Given the description of an element on the screen output the (x, y) to click on. 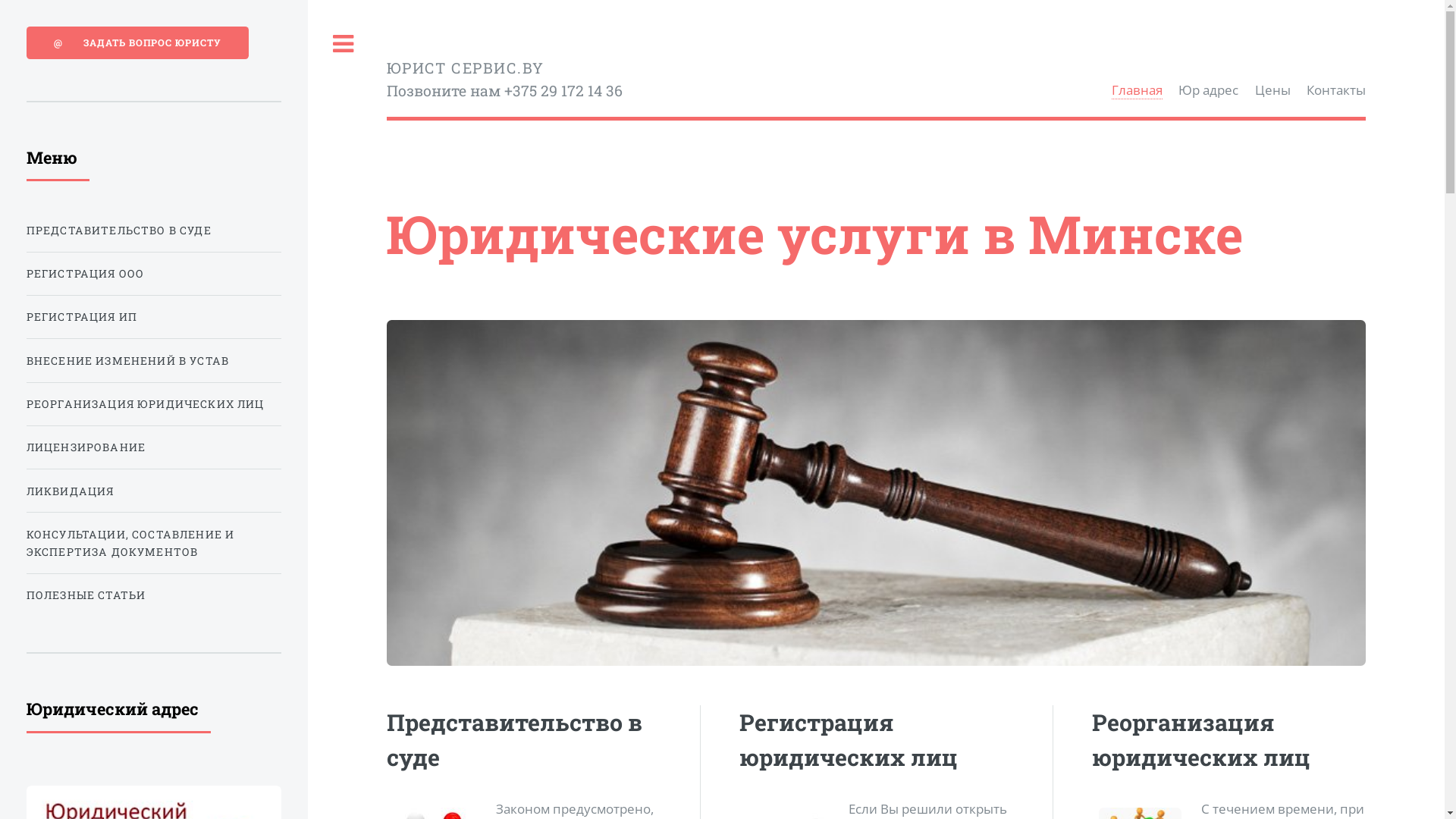
Toggle Element type: text (343, 44)
